Given the description of an element on the screen output the (x, y) to click on. 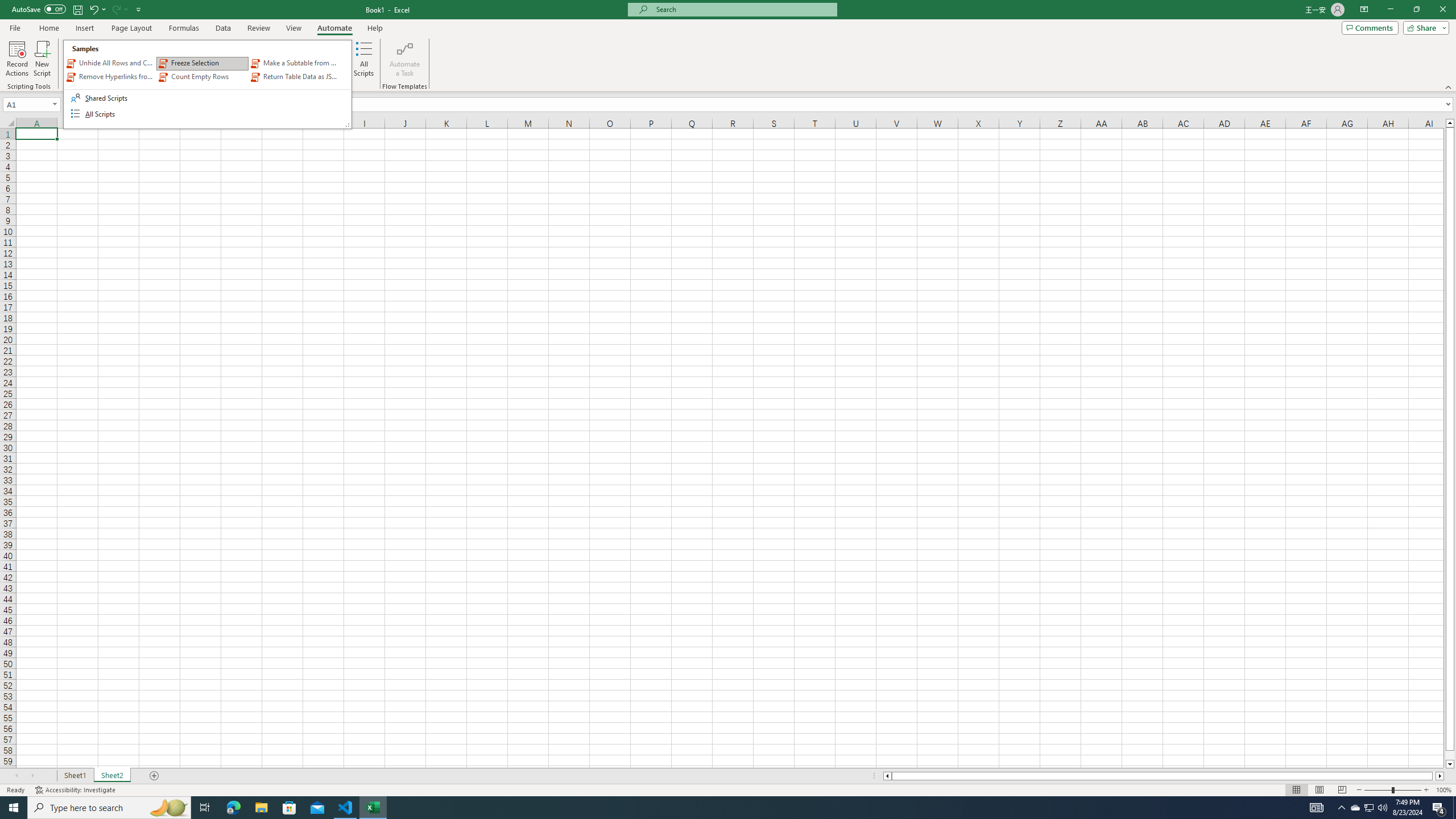
Data (223, 28)
Sheet2 (112, 775)
Microsoft Store (289, 807)
More Options (125, 9)
Automate a Task (404, 58)
Save (77, 9)
Add Sheet (155, 775)
Quick Access Toolbar (77, 9)
Scroll Right (32, 775)
Share (1423, 27)
File Tab (15, 27)
Redo (1355, 807)
